Given the description of an element on the screen output the (x, y) to click on. 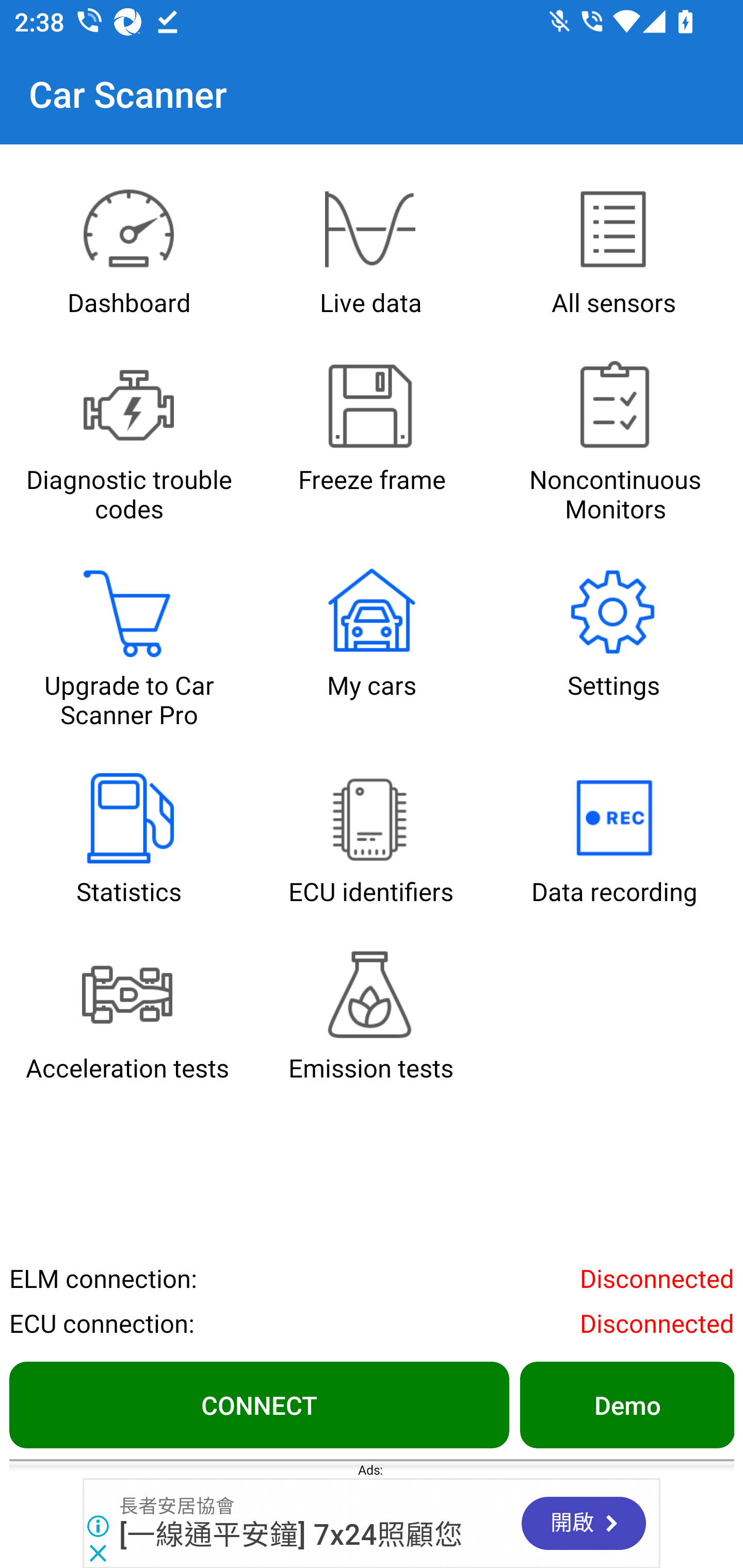
CONNECT (258, 1404)
Demo (627, 1404)
長者安居協會 (176, 1505)
開啟 (583, 1522)
[一線通平安鐘] 7x24照顧您 (290, 1534)
